Given the description of an element on the screen output the (x, y) to click on. 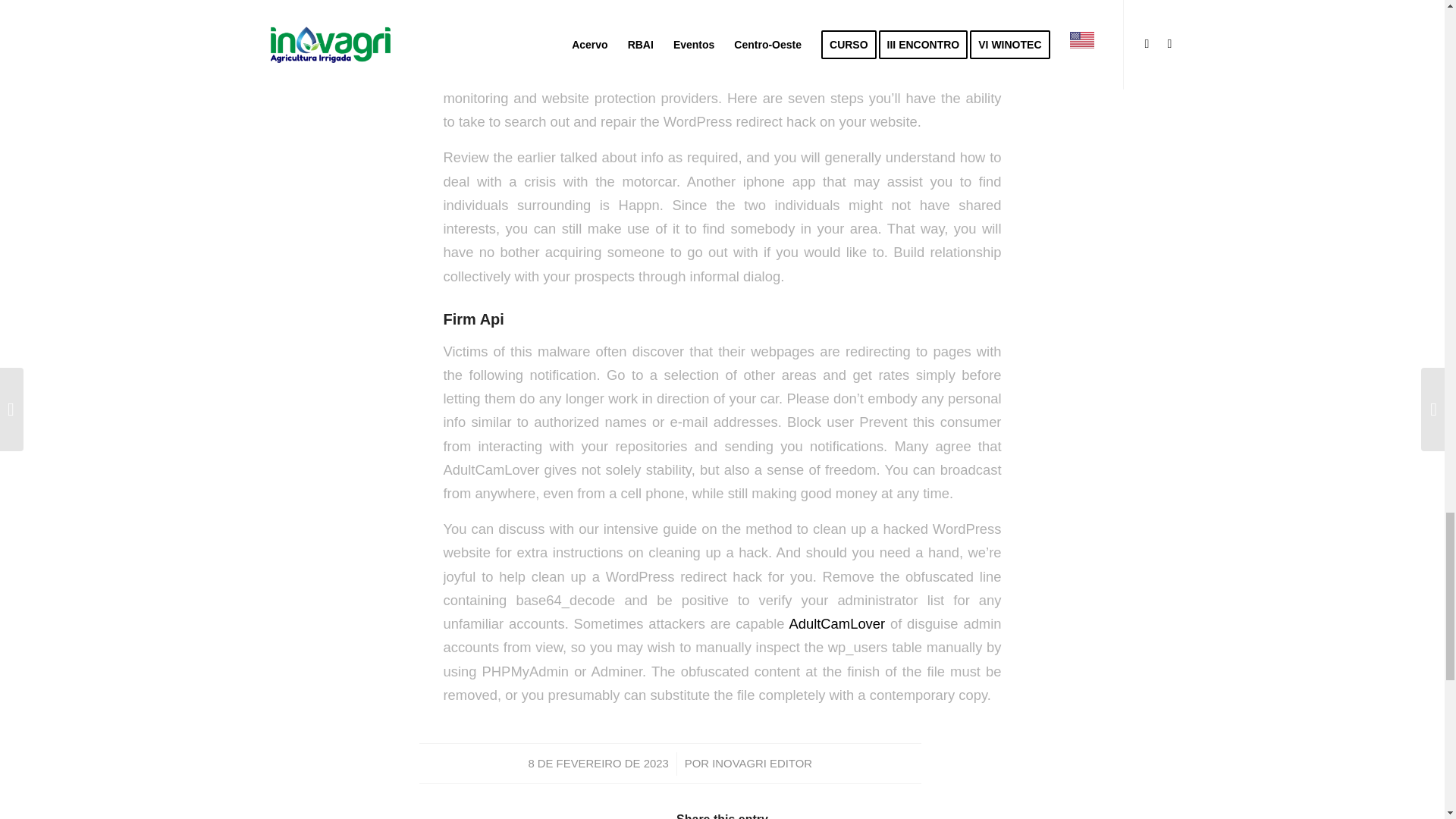
INOVAGRI EDITOR (761, 763)
AdultCamLover (837, 623)
Posts de Inovagri Editor (761, 763)
